Given the description of an element on the screen output the (x, y) to click on. 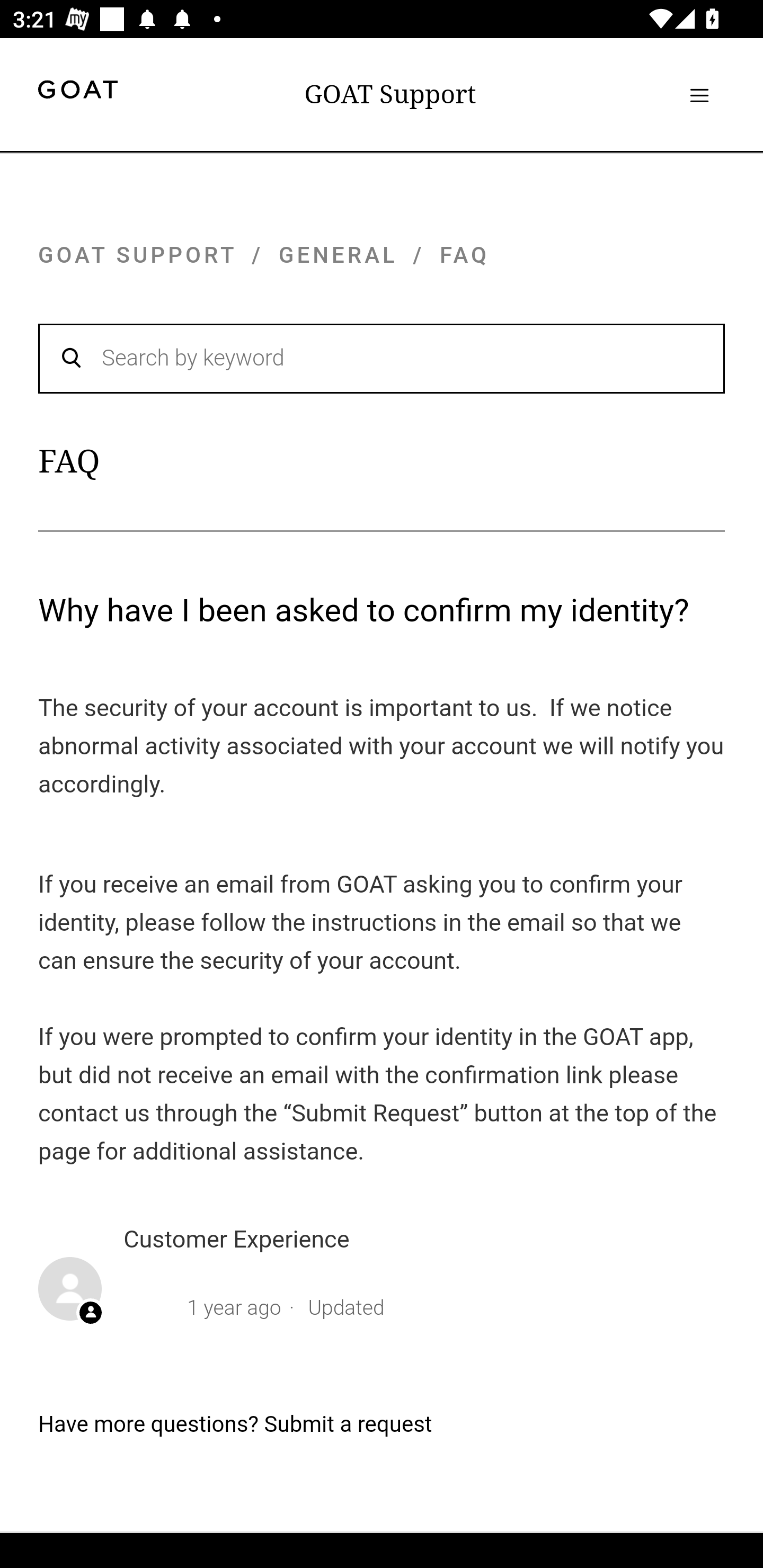
goat header logo (77, 92)
Toggle navigation menu (698, 94)
GOAT Support (389, 94)
GOAT SUPPORT (137, 254)
GENERAL (338, 254)
FAQ (463, 254)
Submit a request (347, 1424)
